Given the description of an element on the screen output the (x, y) to click on. 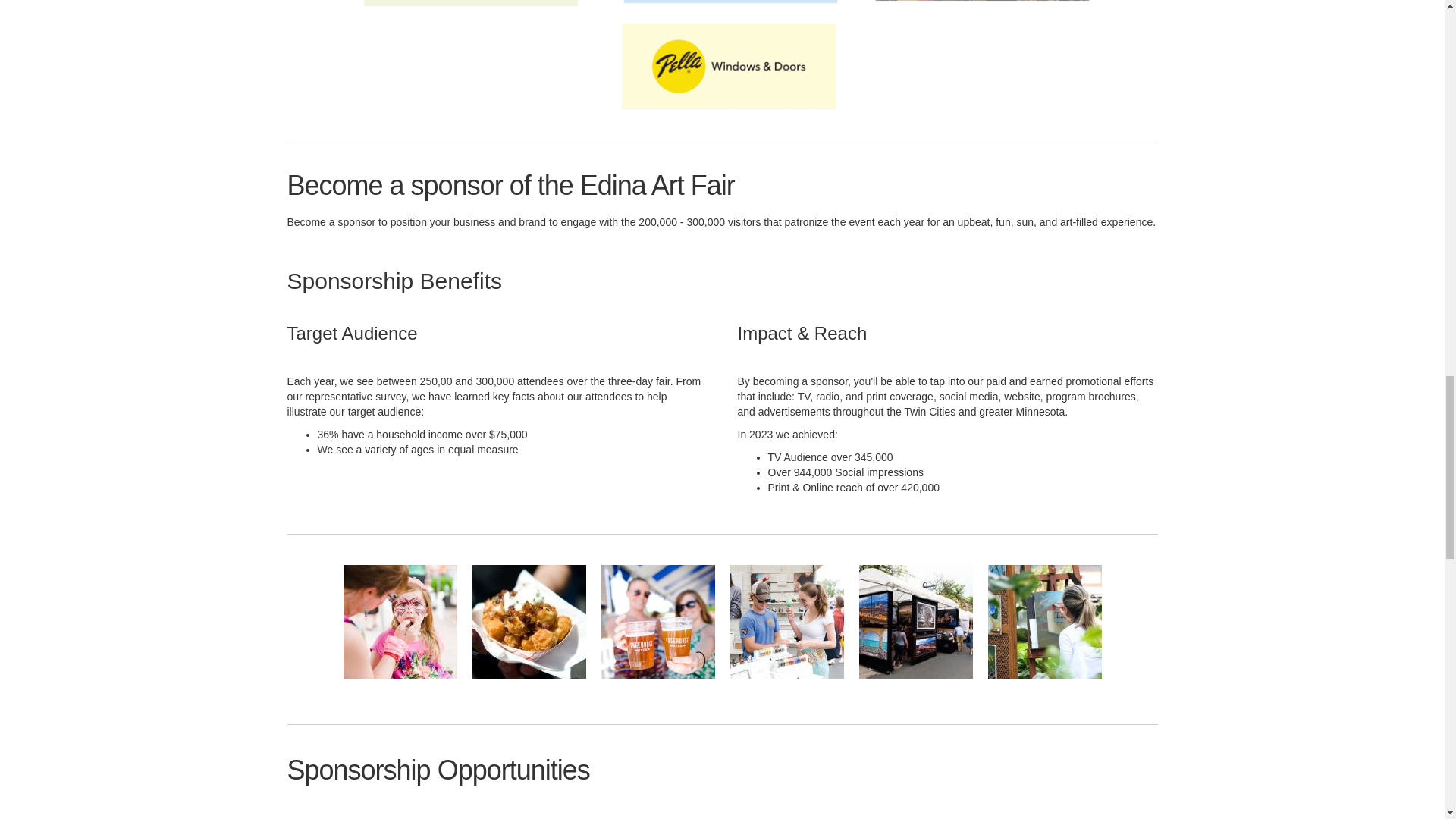
Art booth displays (915, 621)
Edina Art Fair 2017. Photos by Emily J. Davis. (786, 621)
Edina Art Fair 2017. Photos by Emily J. Davis. (528, 621)
artist-painting (1043, 621)
Edina Art Fair 2017. Photos by Emily J. Davis. (399, 621)
sponsors (721, 54)
Edina Art Fair 2017. Photos by Emily J. Davis. (656, 621)
